Given the description of an element on the screen output the (x, y) to click on. 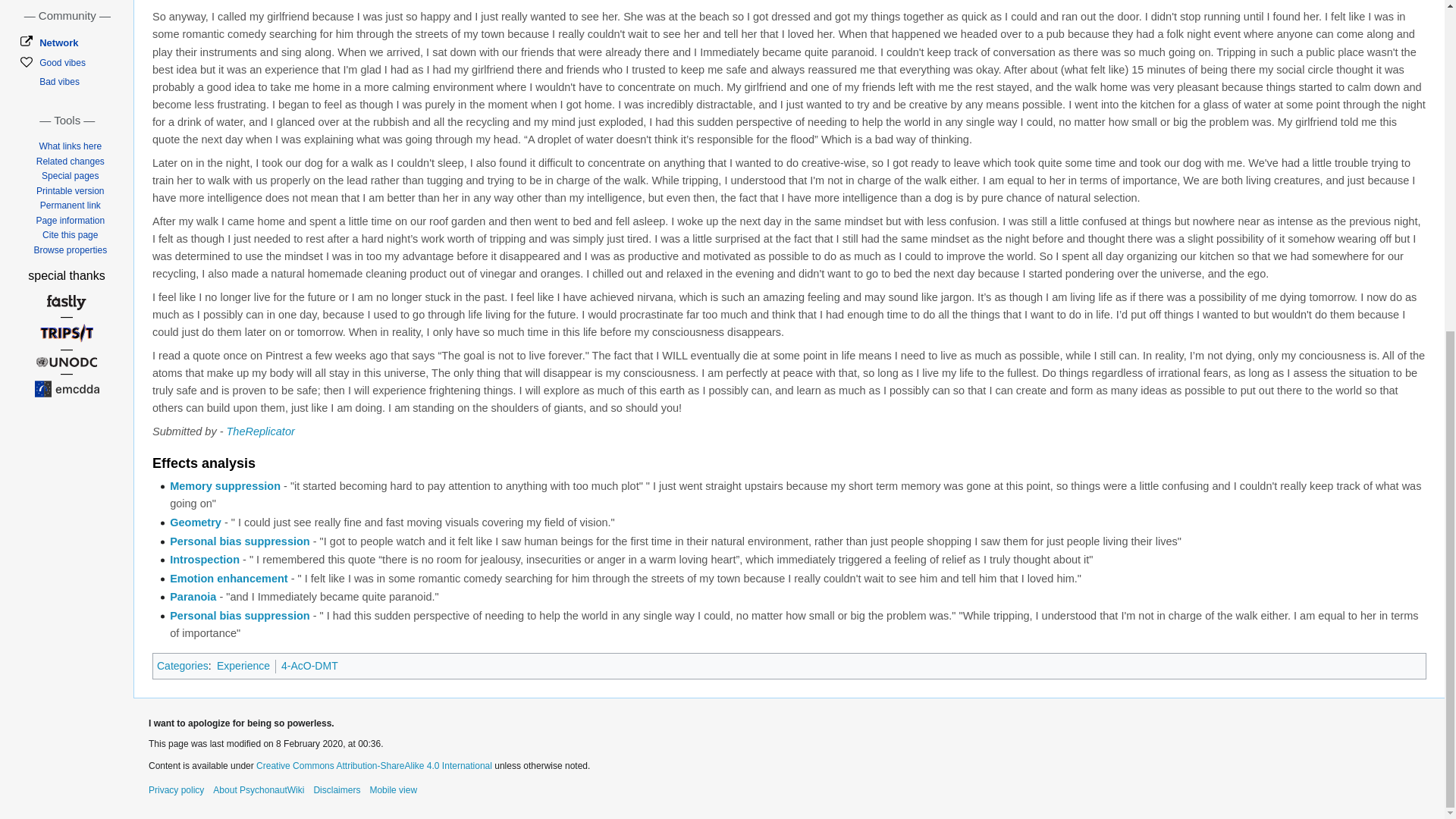
Personal bias suppression (240, 615)
Category:4-AcO-DMT (309, 665)
Emotion enhancement (229, 578)
Memory suppression (225, 485)
Categories (182, 665)
Experience (242, 665)
TheReplicator (261, 430)
Emotion enhancement (229, 578)
Geometry (195, 522)
Personal bias suppression (240, 615)
4-AcO-DMT (309, 665)
Paranoia (192, 596)
Paranoia (192, 596)
Personal bias suppression (240, 541)
Geometry (195, 522)
